Given the description of an element on the screen output the (x, y) to click on. 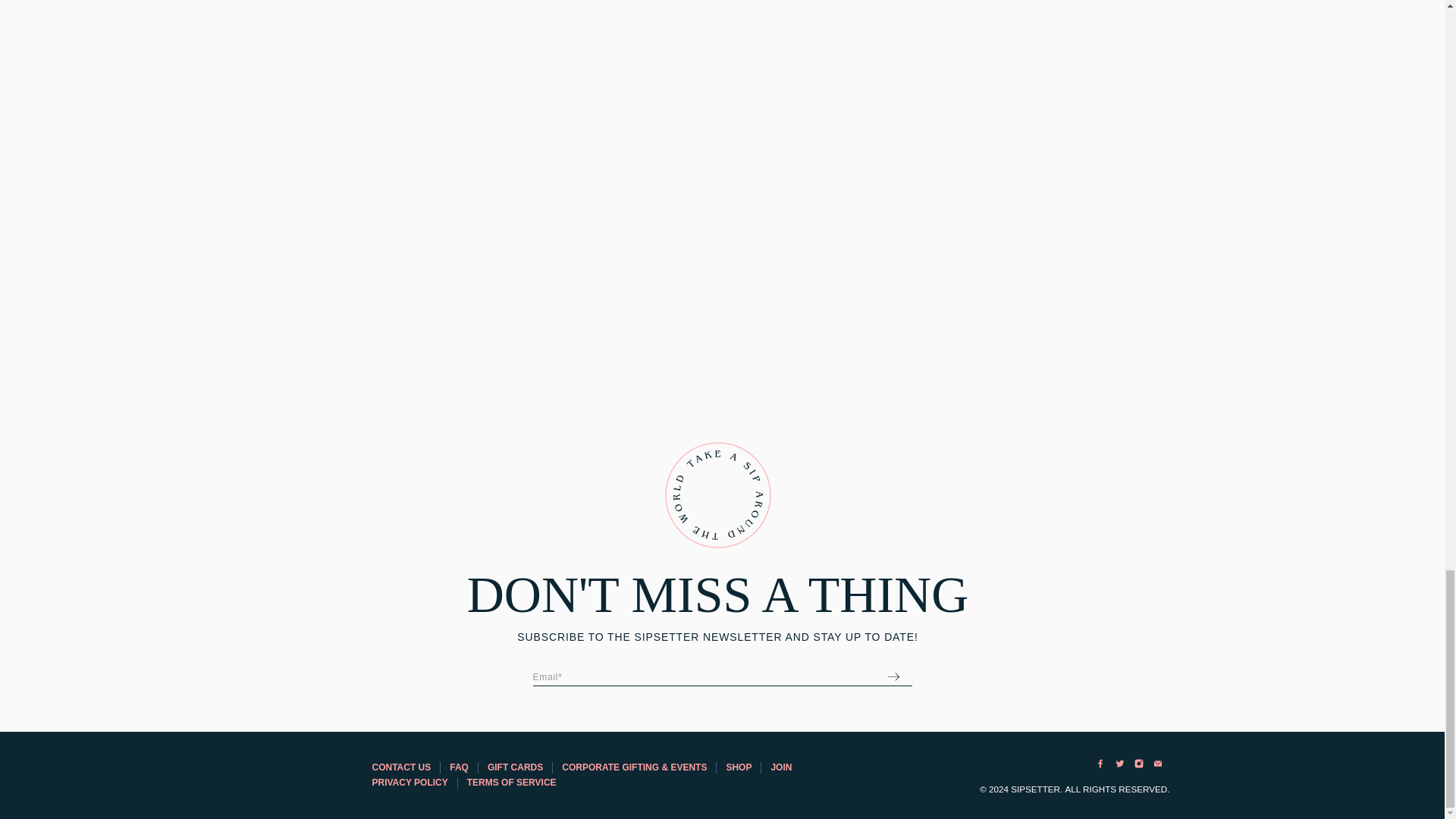
sipsetter on Instagram (1139, 767)
Email sipsetter (1158, 767)
sipsetter on Twitter (1119, 767)
sipsetter on Facebook (1100, 767)
